Given the description of an element on the screen output the (x, y) to click on. 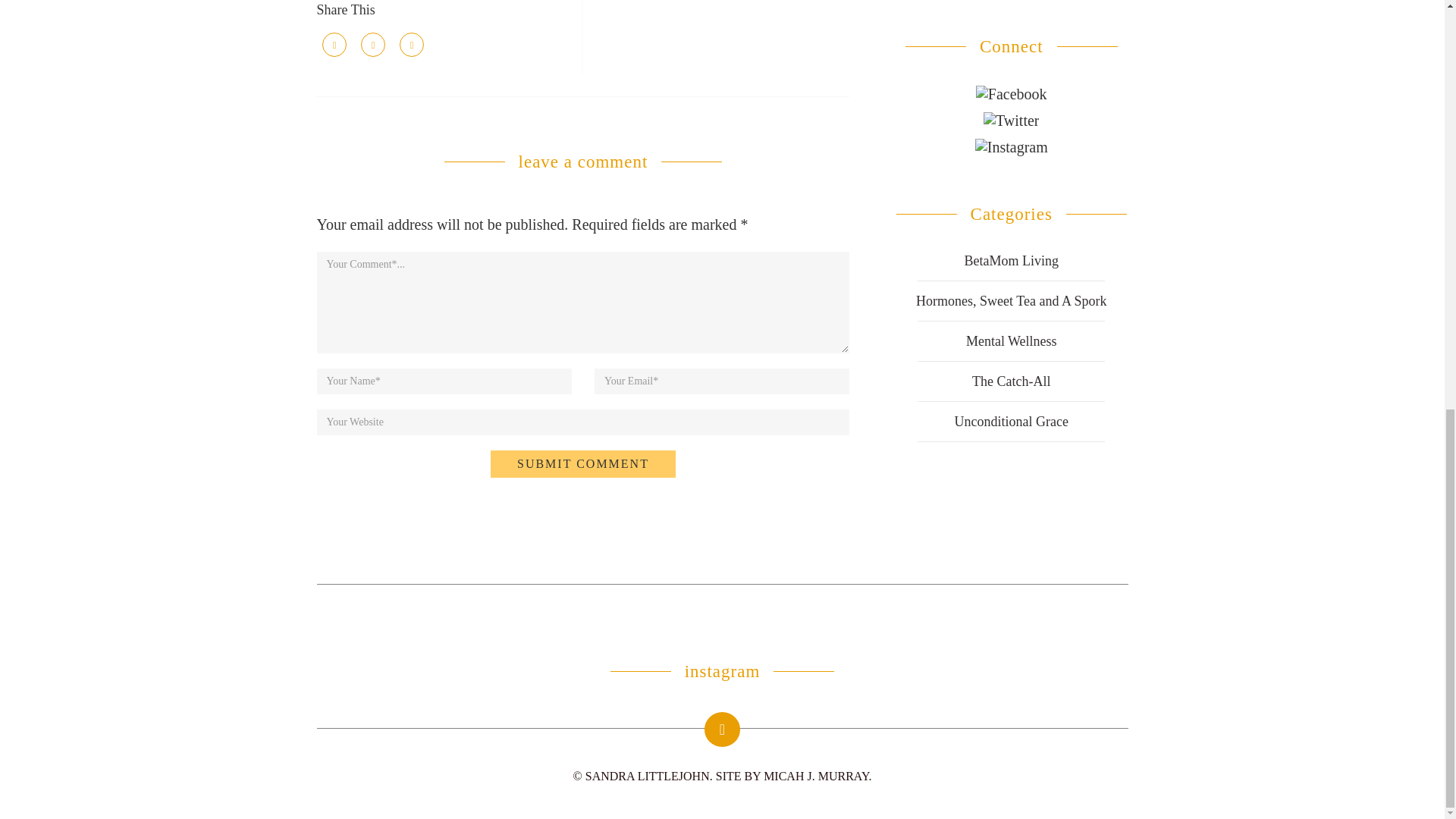
Instagram (1011, 145)
Mental Wellness (1011, 340)
Hormones, Sweet Tea and A Spork (1010, 300)
The Catch-All (1010, 381)
Facebook (1010, 94)
Facebook (1011, 92)
Twitter (1011, 120)
Twitter (1010, 118)
Instagram (1011, 147)
Submit Comment (582, 464)
